Given the description of an element on the screen output the (x, y) to click on. 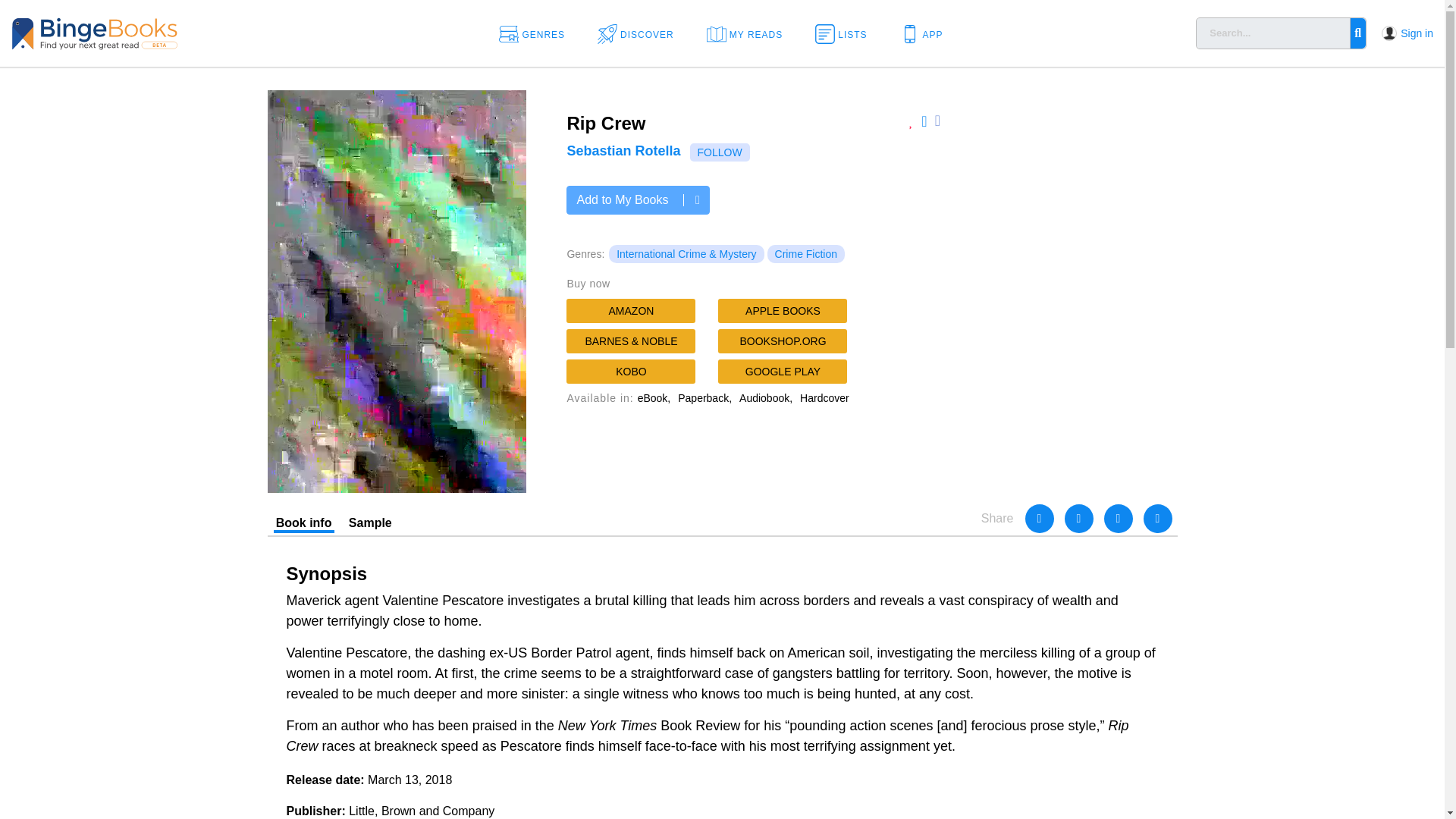
MY READS (749, 33)
AMAZON (630, 310)
Sign in (1416, 33)
Add to My Books (637, 199)
LISTS (845, 33)
Find your next great read (144, 32)
Genres (537, 33)
My reads (749, 33)
APPLE BOOKS (782, 310)
FOLLOW (719, 152)
